Given the description of an element on the screen output the (x, y) to click on. 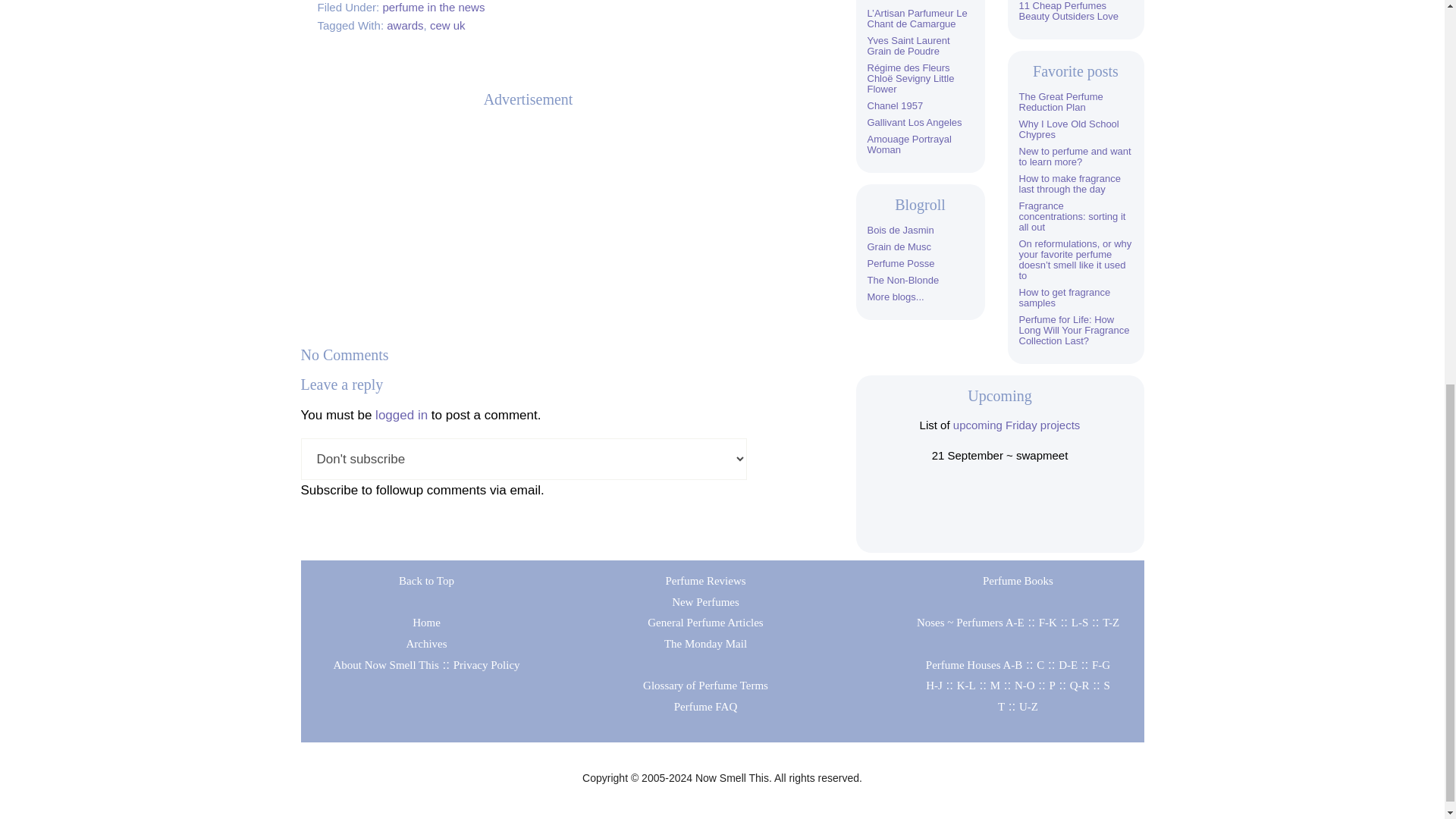
Bois de Jasmin (900, 229)
Amouage Portrayal Woman (909, 144)
Gallivant Los Angeles (914, 122)
cew uk (447, 24)
perfume in the news (432, 6)
Yves Saint Laurent Grain de Poudre (908, 45)
logged in (401, 414)
awards (405, 24)
Chanel 1957 (895, 105)
